Given the description of an element on the screen output the (x, y) to click on. 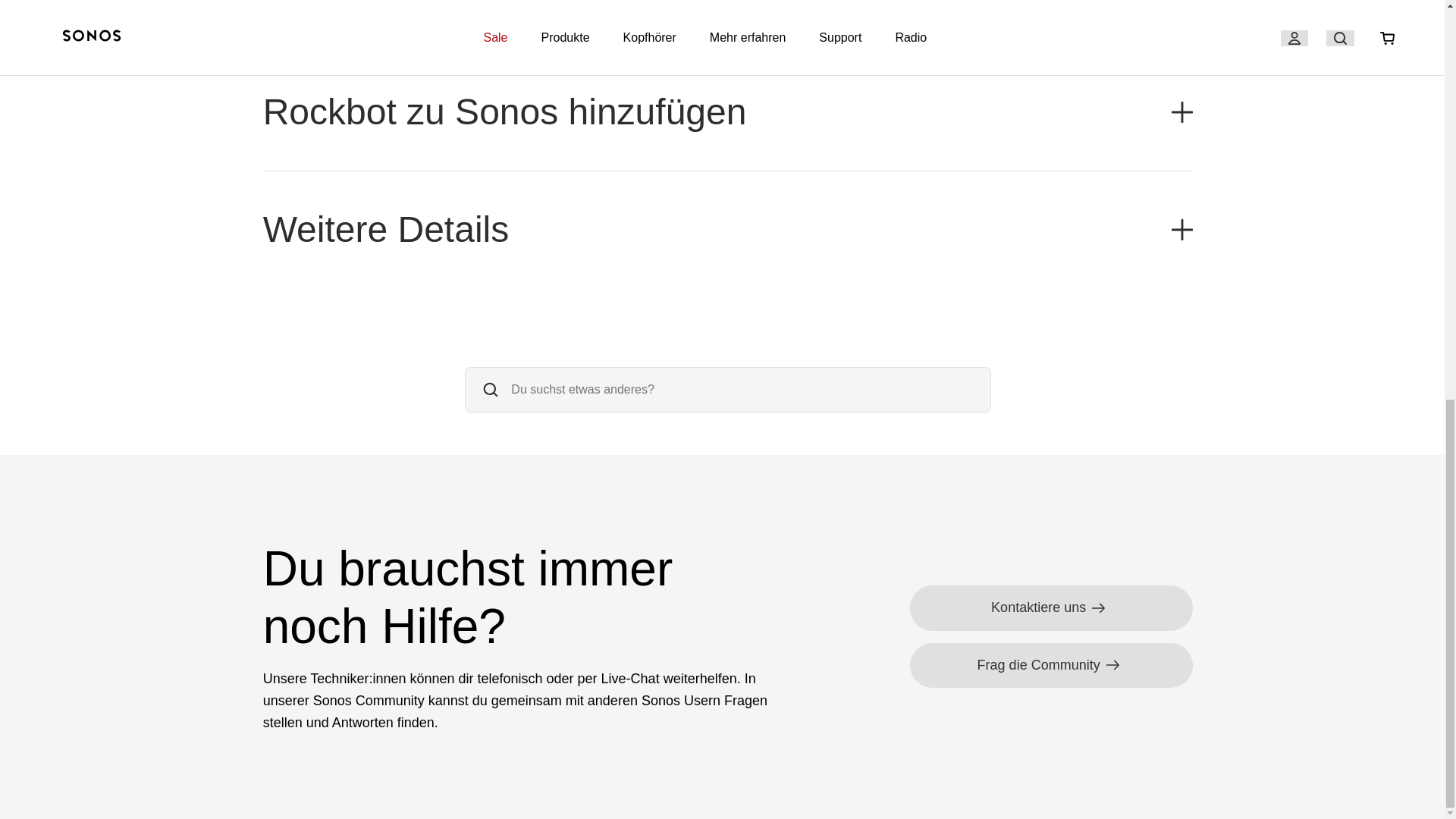
Frag die Community (1051, 664)
Kontaktiere uns (1051, 607)
